Given the description of an element on the screen output the (x, y) to click on. 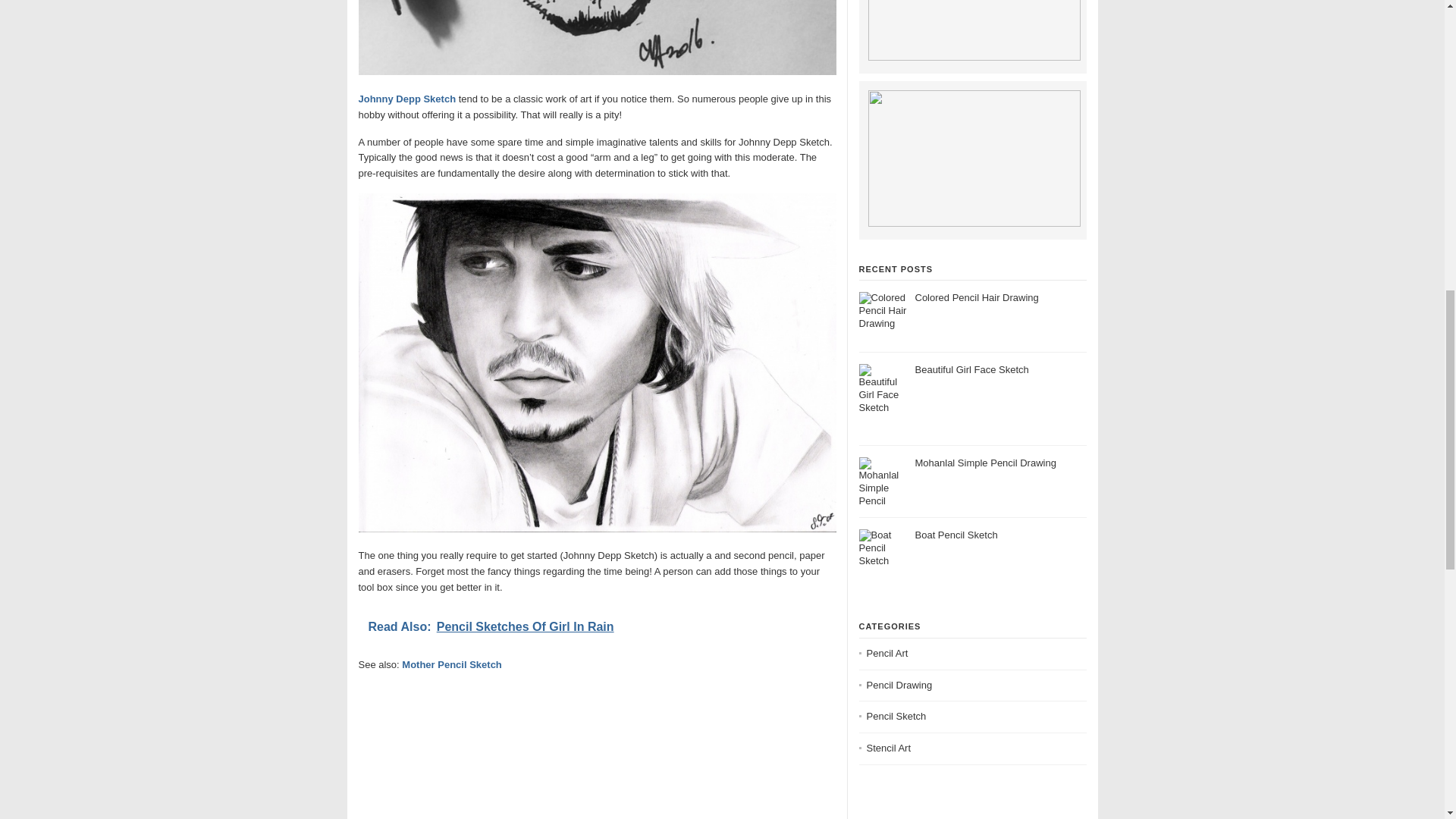
Mother Pencil Sketch (450, 664)
Johnny Depp Sketch (406, 98)
Read Also:  Pencil Sketches Of Girl In Rain (596, 627)
